Given the description of an element on the screen output the (x, y) to click on. 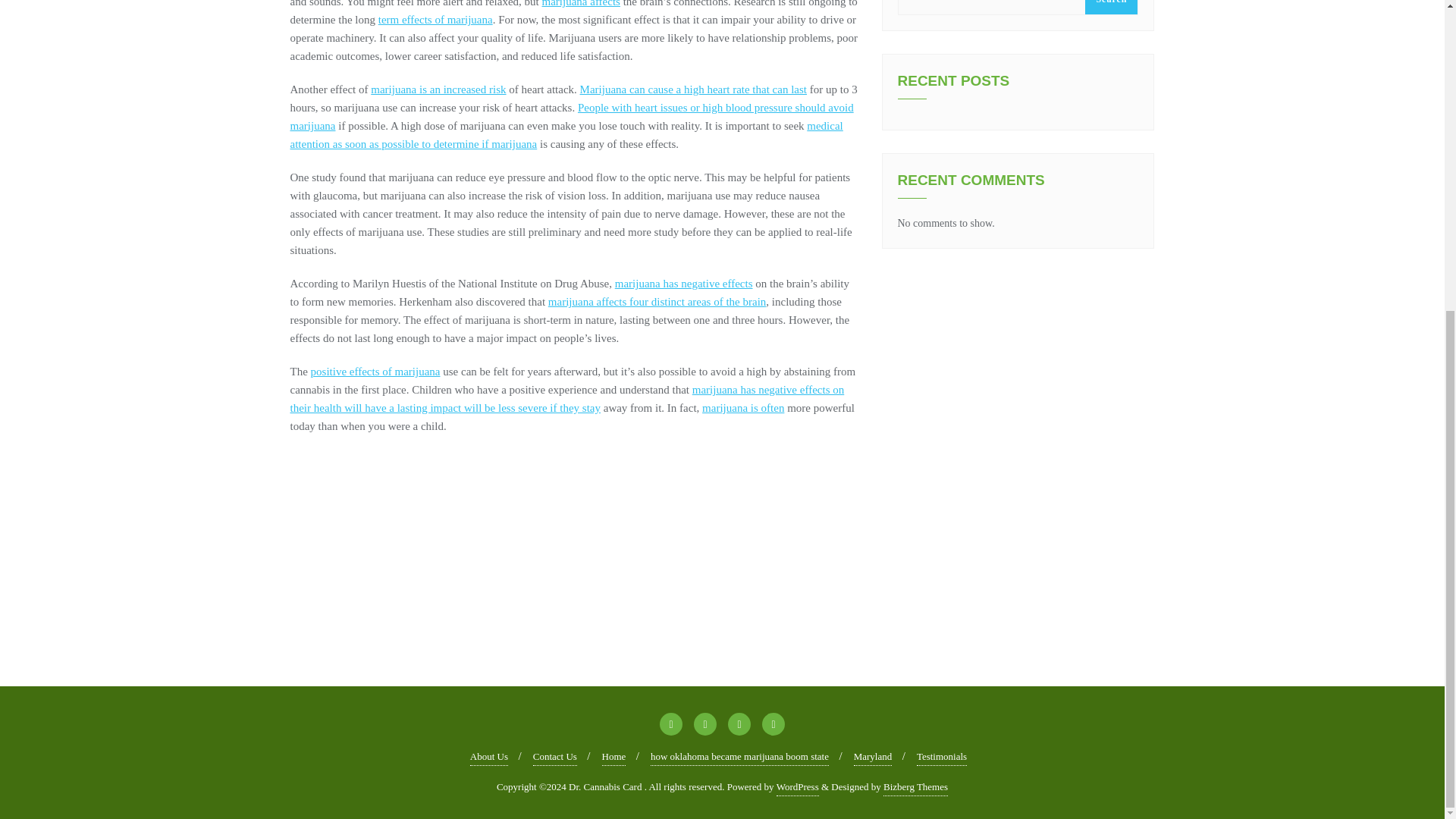
positive effects of marijuana (376, 371)
marijuana affects (580, 3)
Marijuana can cause a high heart rate that can last (692, 89)
term effects of marijuana (435, 19)
Home (614, 756)
Contact Us (554, 756)
About Us (489, 756)
marijuana affects four distinct areas of the brain (657, 301)
marijuana has negative effects (683, 283)
marijuana is an increased risk (438, 89)
marijuana is often (742, 408)
Search (1110, 7)
